Given the description of an element on the screen output the (x, y) to click on. 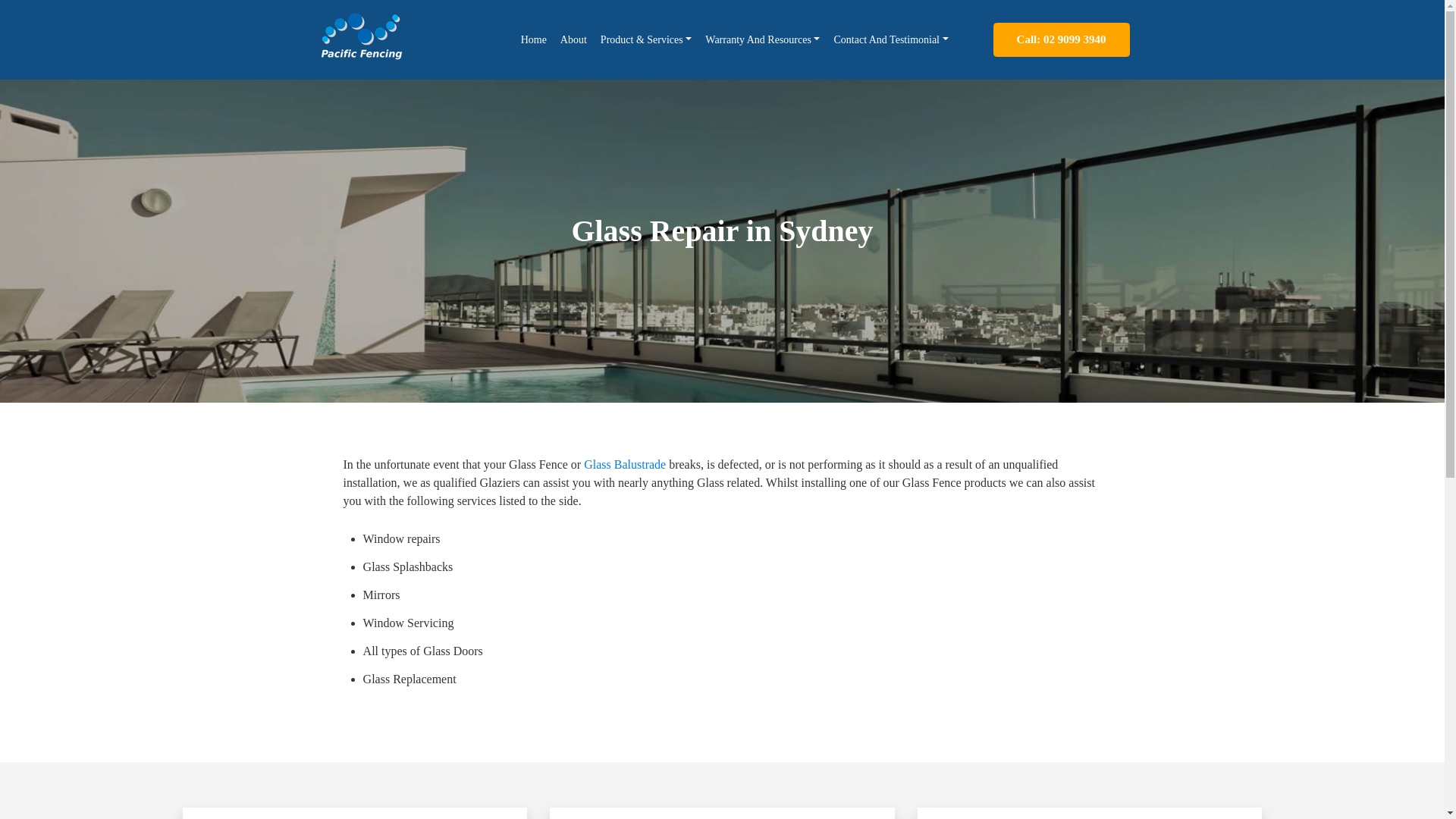
Glass Balustrade (624, 463)
Warranty And Resources (762, 39)
About (573, 39)
Home (533, 39)
Call: 02 9099 3940 (1060, 39)
Contact And Testimonial (891, 39)
